Given the description of an element on the screen output the (x, y) to click on. 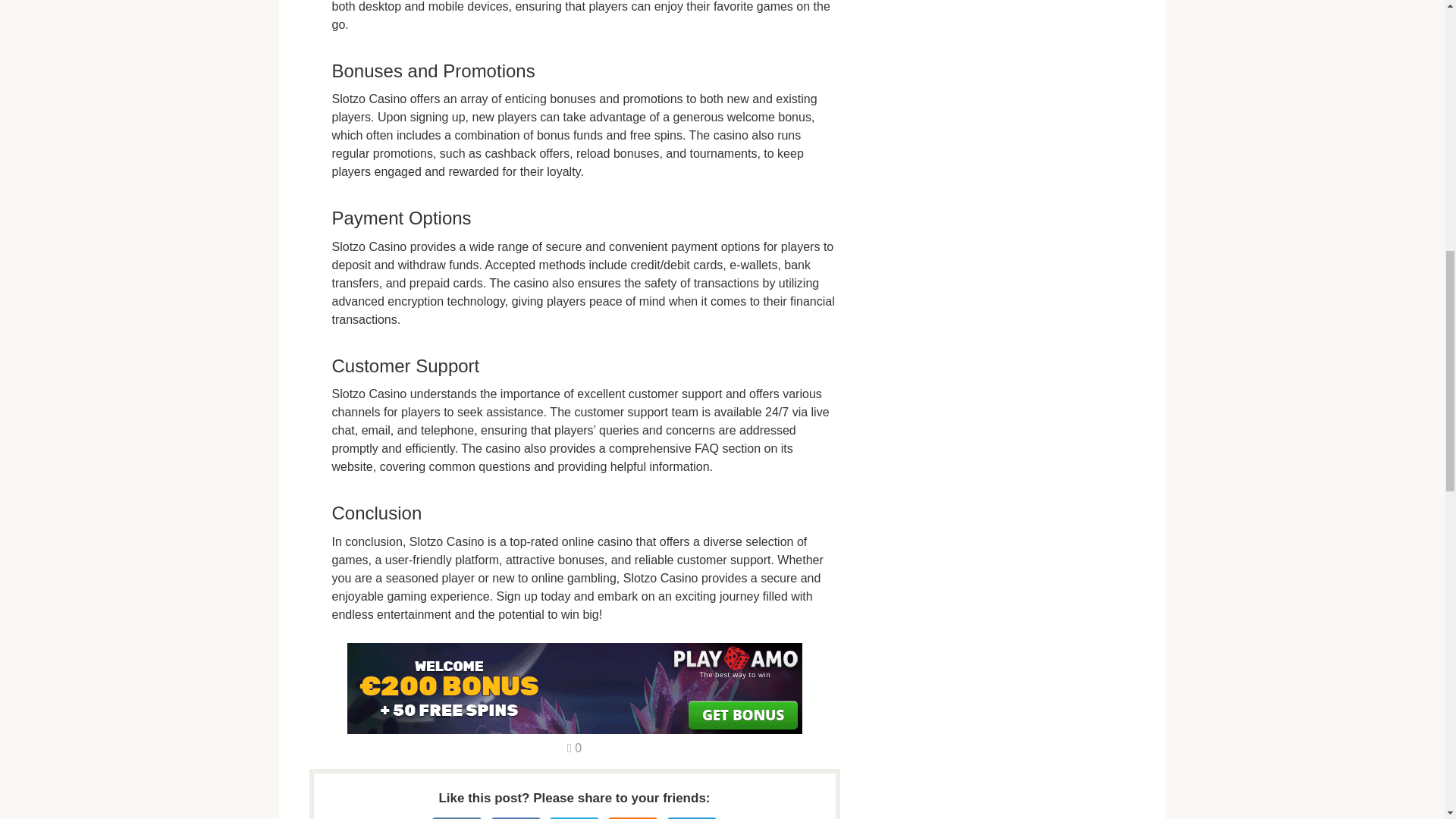
Comments (573, 748)
